Given the description of an element on the screen output the (x, y) to click on. 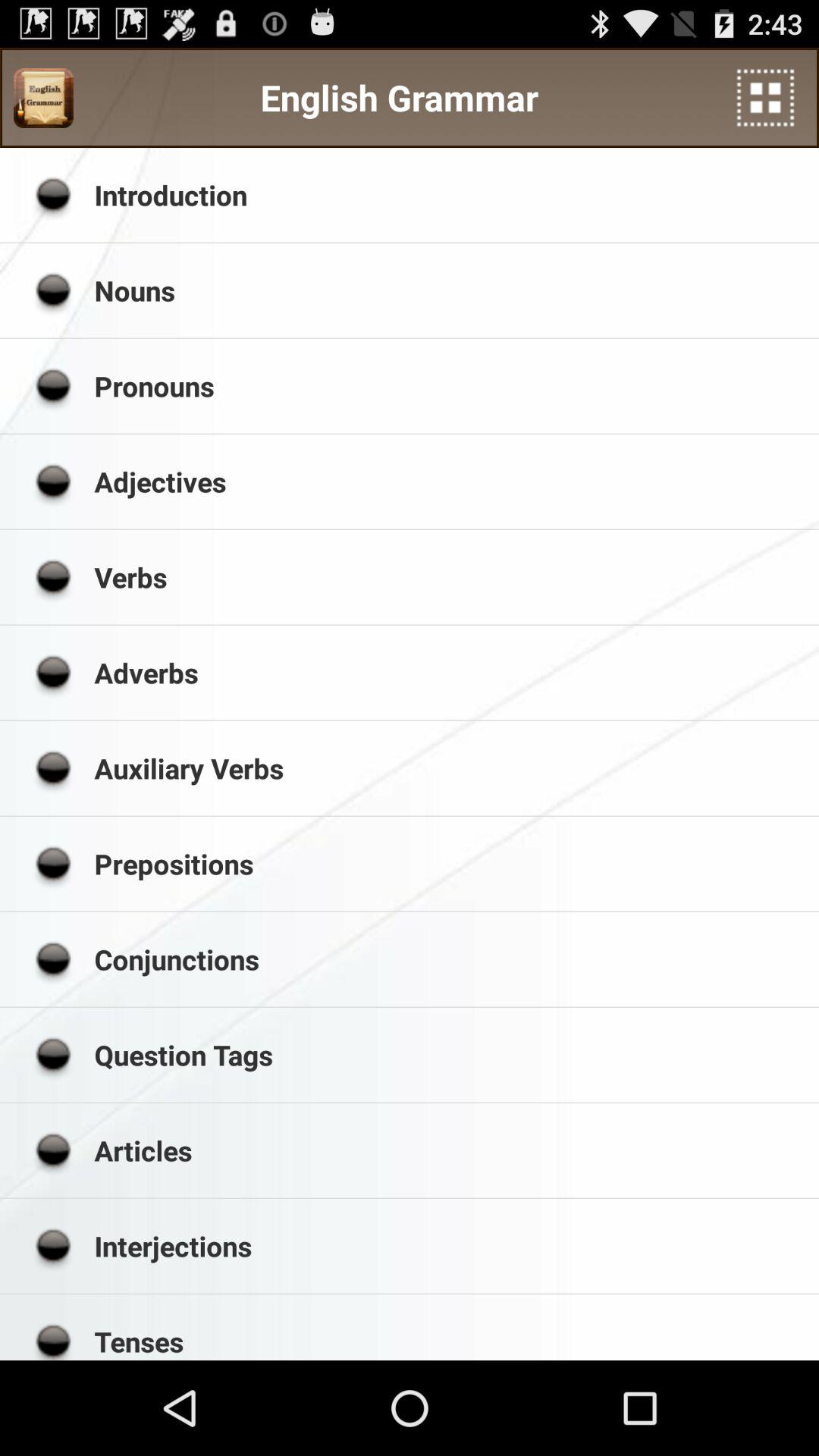
select the app above interjections item (451, 1150)
